Given the description of an element on the screen output the (x, y) to click on. 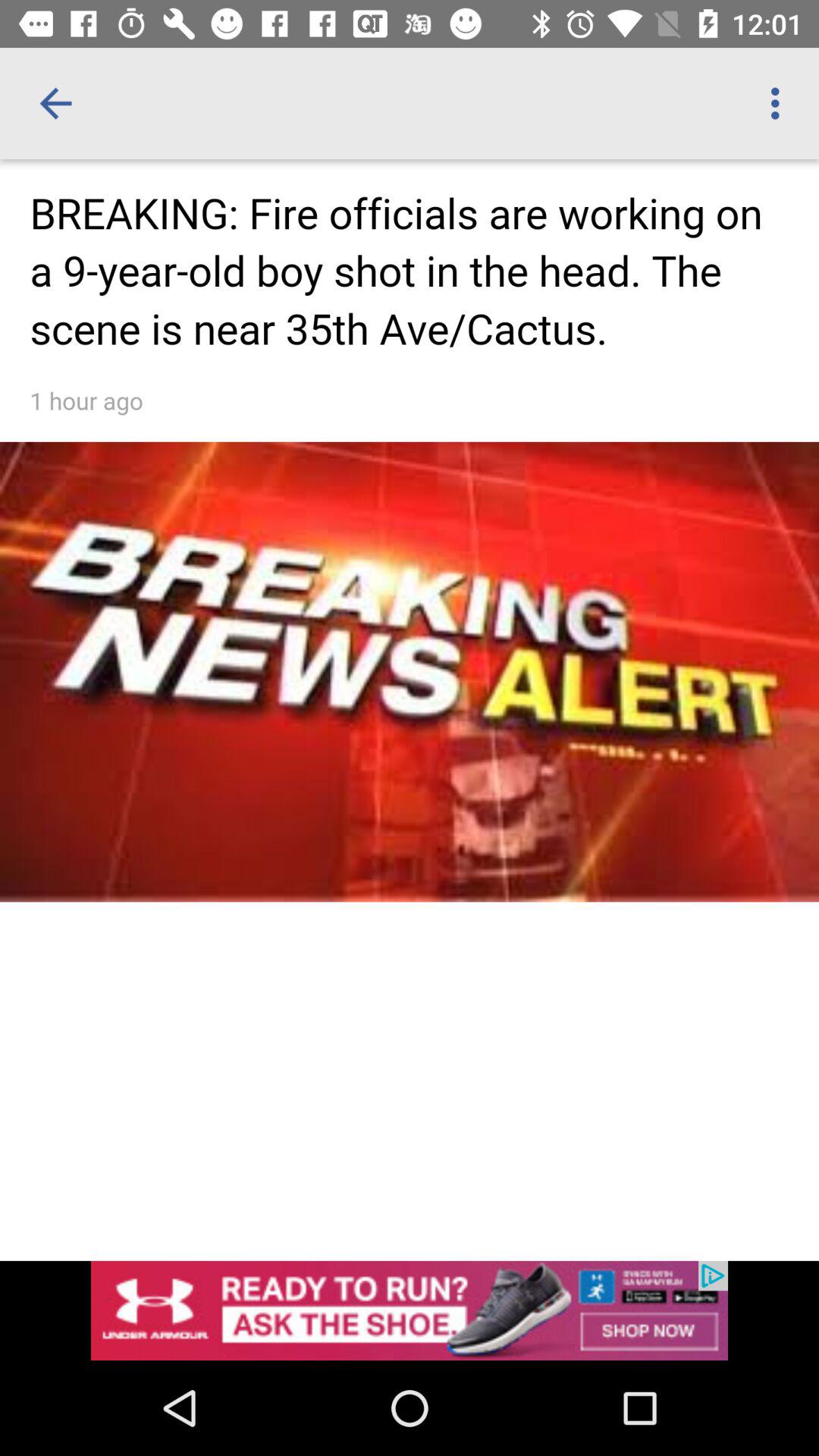
open article (409, 641)
